Given the description of an element on the screen output the (x, y) to click on. 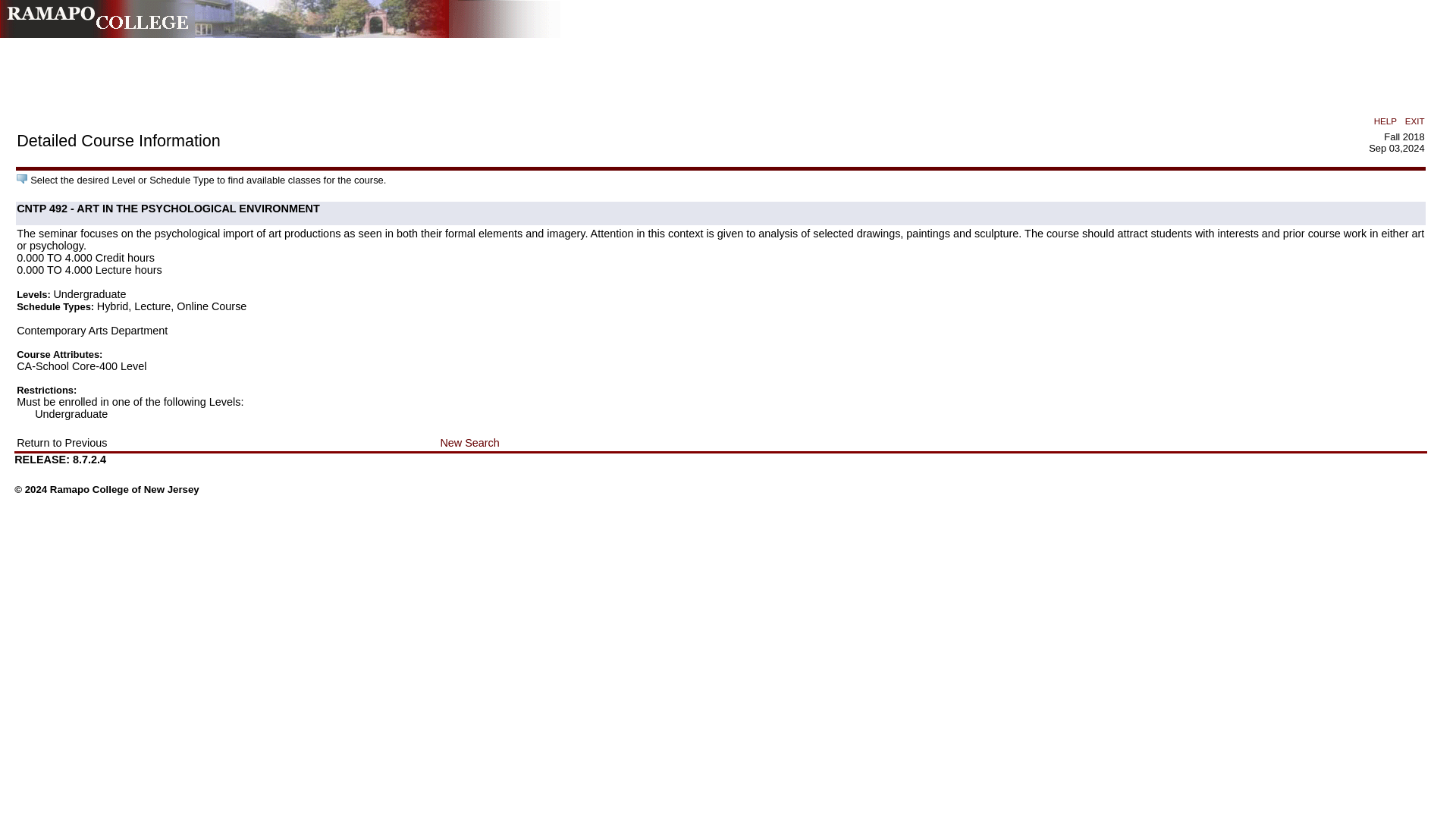
New Search (469, 442)
Information (21, 178)
EXIT (1415, 121)
HELP (1385, 121)
Return to Previous (61, 442)
